Given the description of an element on the screen output the (x, y) to click on. 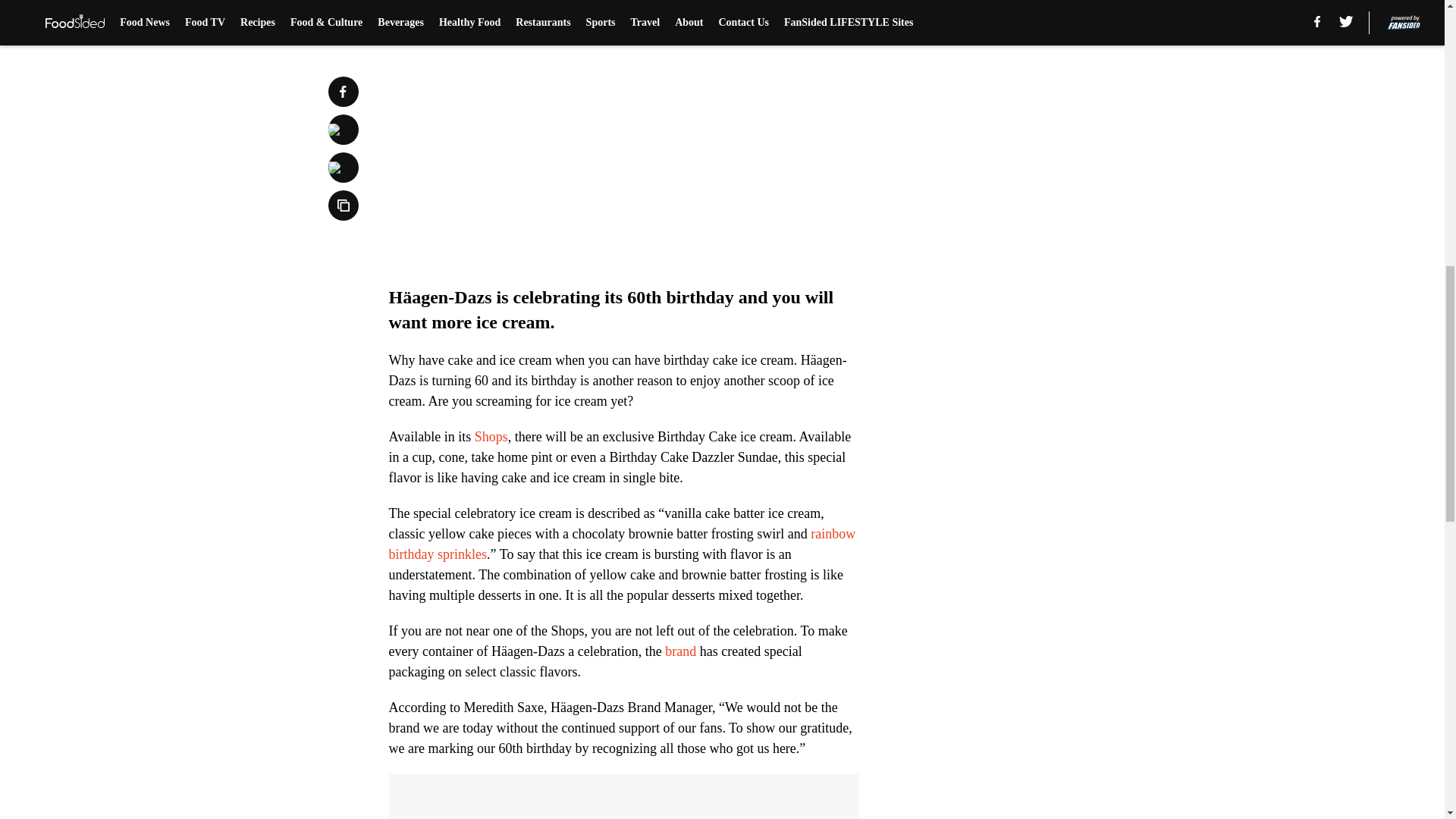
Shops (491, 436)
brand (680, 651)
rainbow birthday sprinkles (622, 543)
